Given the description of an element on the screen output the (x, y) to click on. 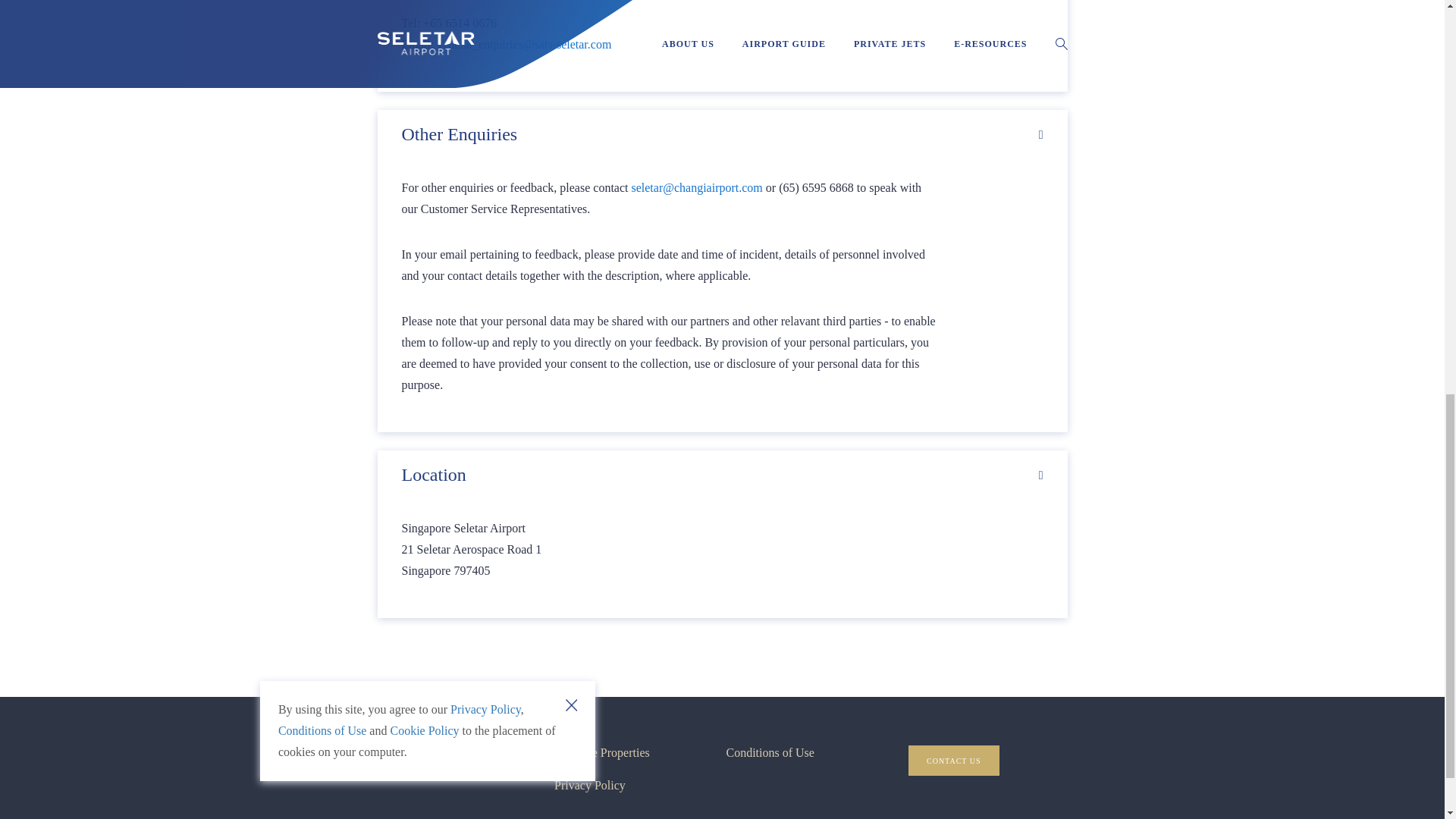
Conditions of Use (769, 752)
Privacy Policy (590, 784)
Rentable Properties (601, 752)
Location (722, 474)
Other Enquiries (722, 133)
